Given the description of an element on the screen output the (x, y) to click on. 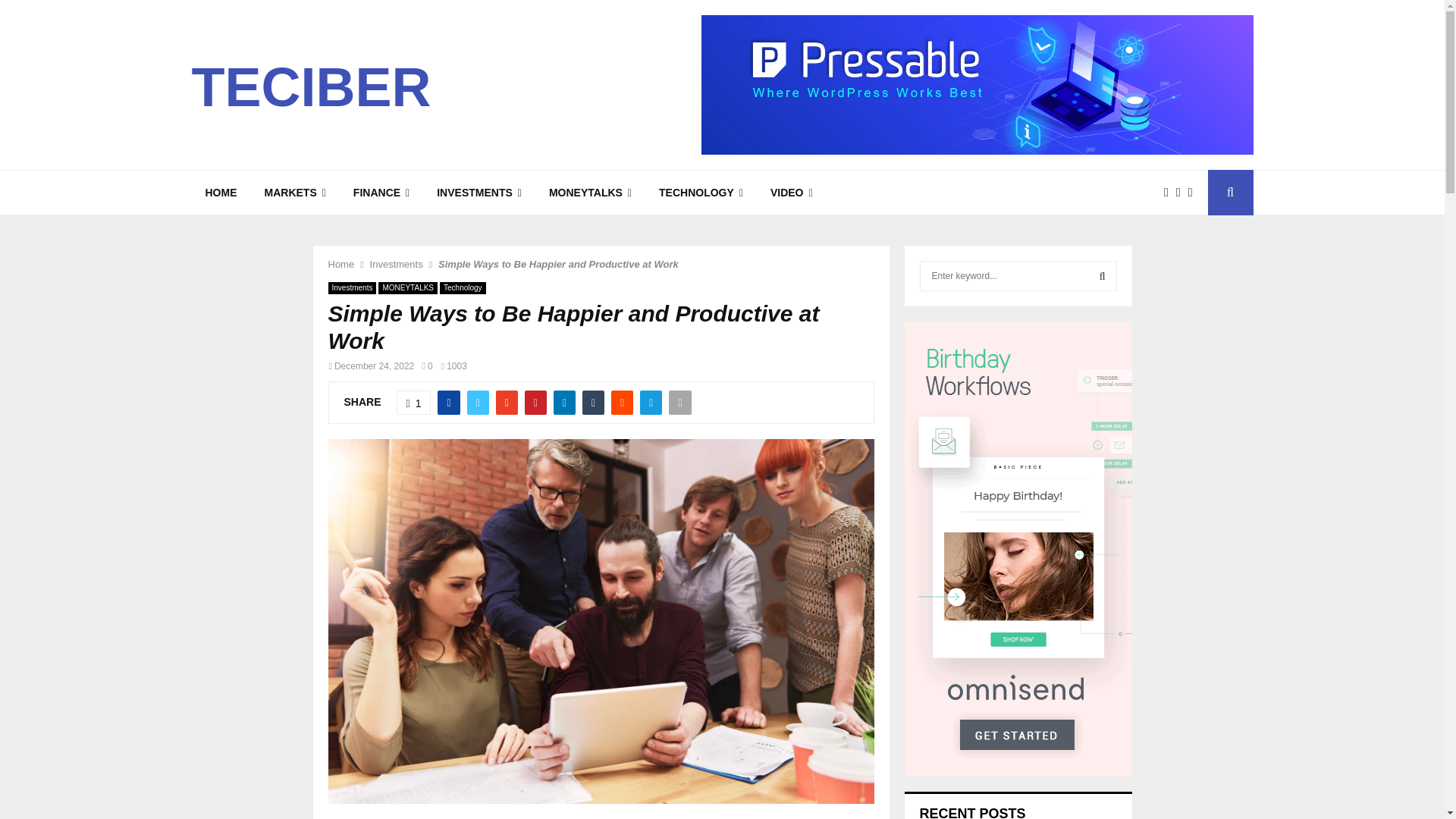
FINANCE (381, 192)
TECIBER (310, 86)
HOME (220, 192)
MARKETS (294, 192)
